Given the description of an element on the screen output the (x, y) to click on. 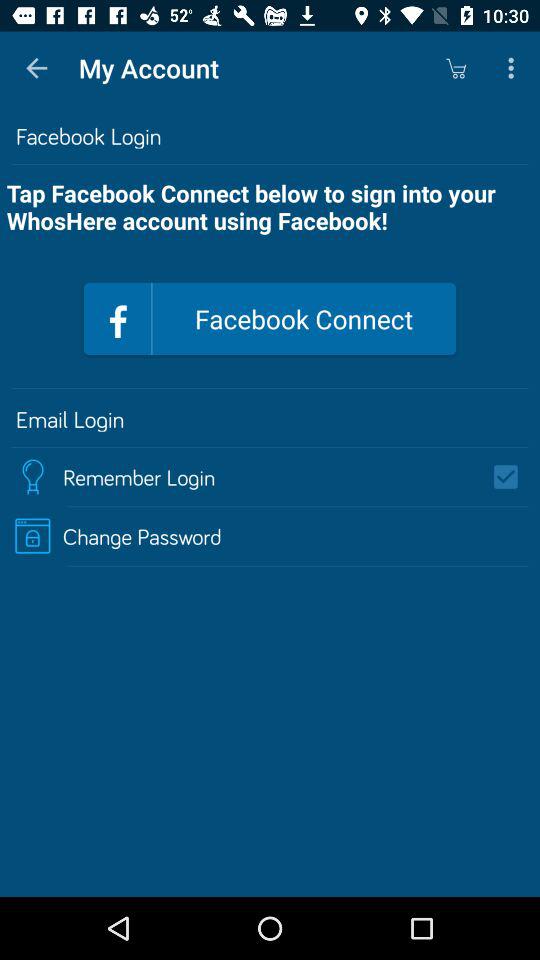
select item on the right (512, 476)
